Given the description of an element on the screen output the (x, y) to click on. 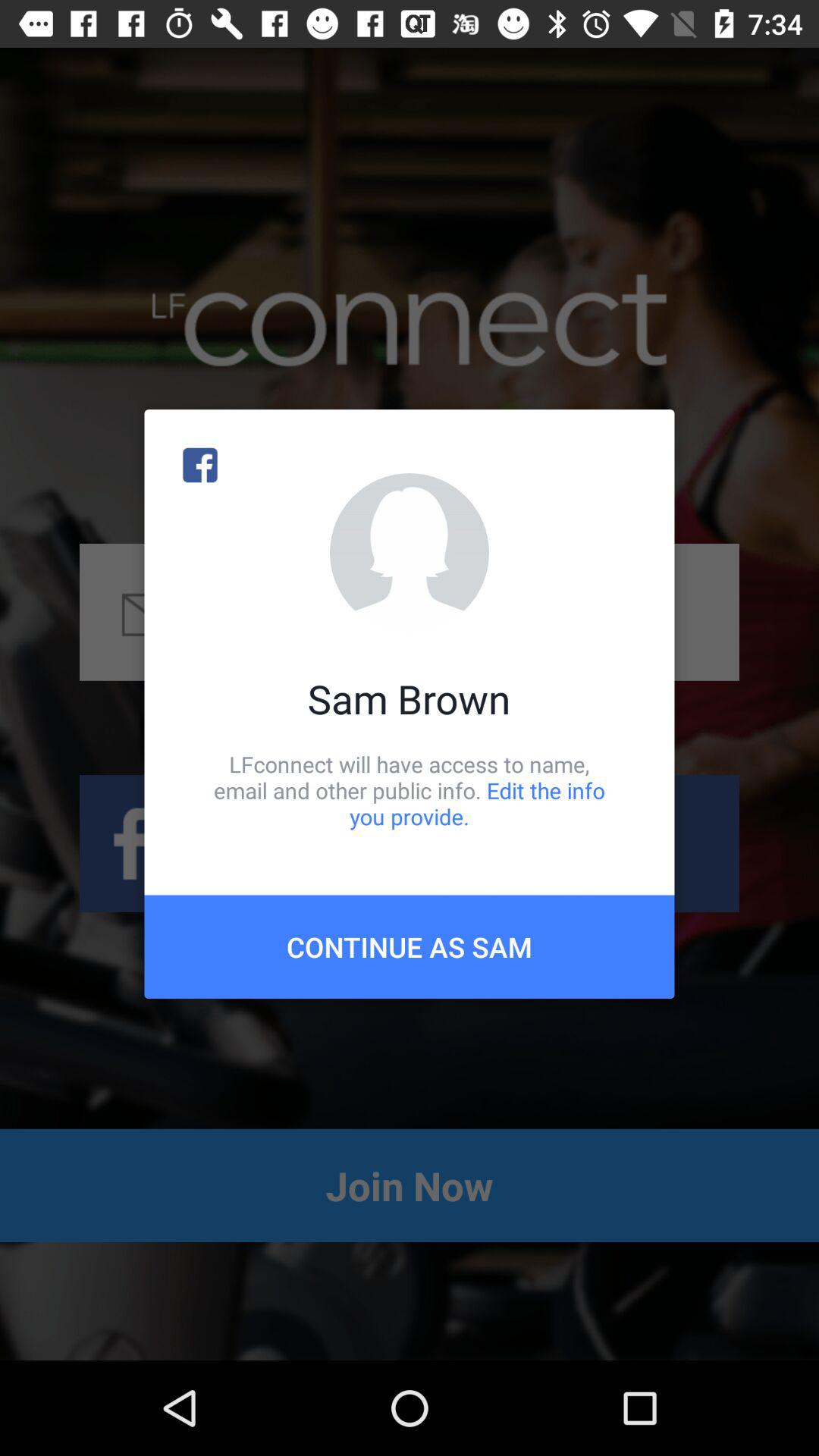
turn on item below the lfconnect will have (409, 946)
